Given the description of an element on the screen output the (x, y) to click on. 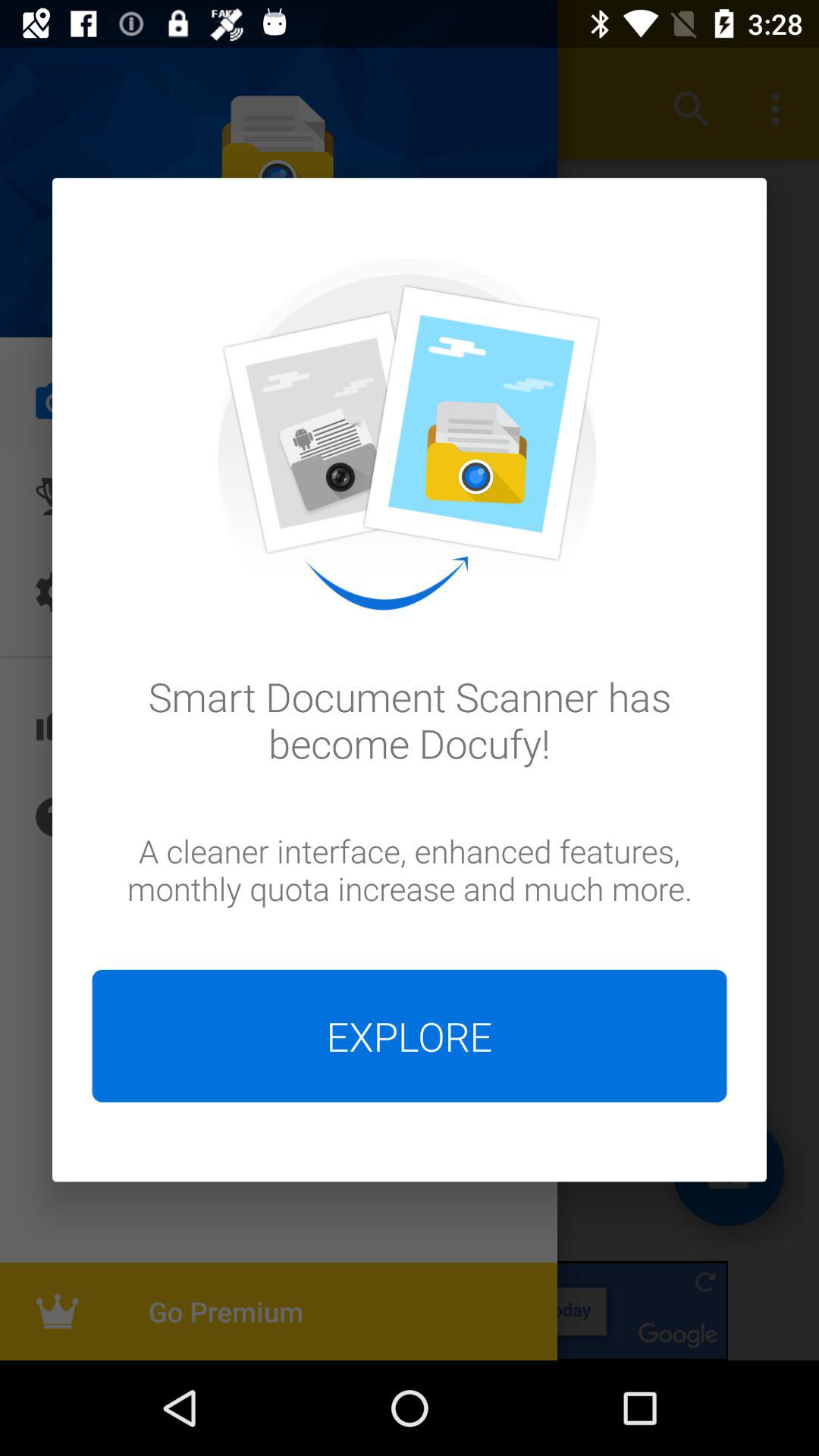
turn off the icon at the bottom (409, 1035)
